Given the description of an element on the screen output the (x, y) to click on. 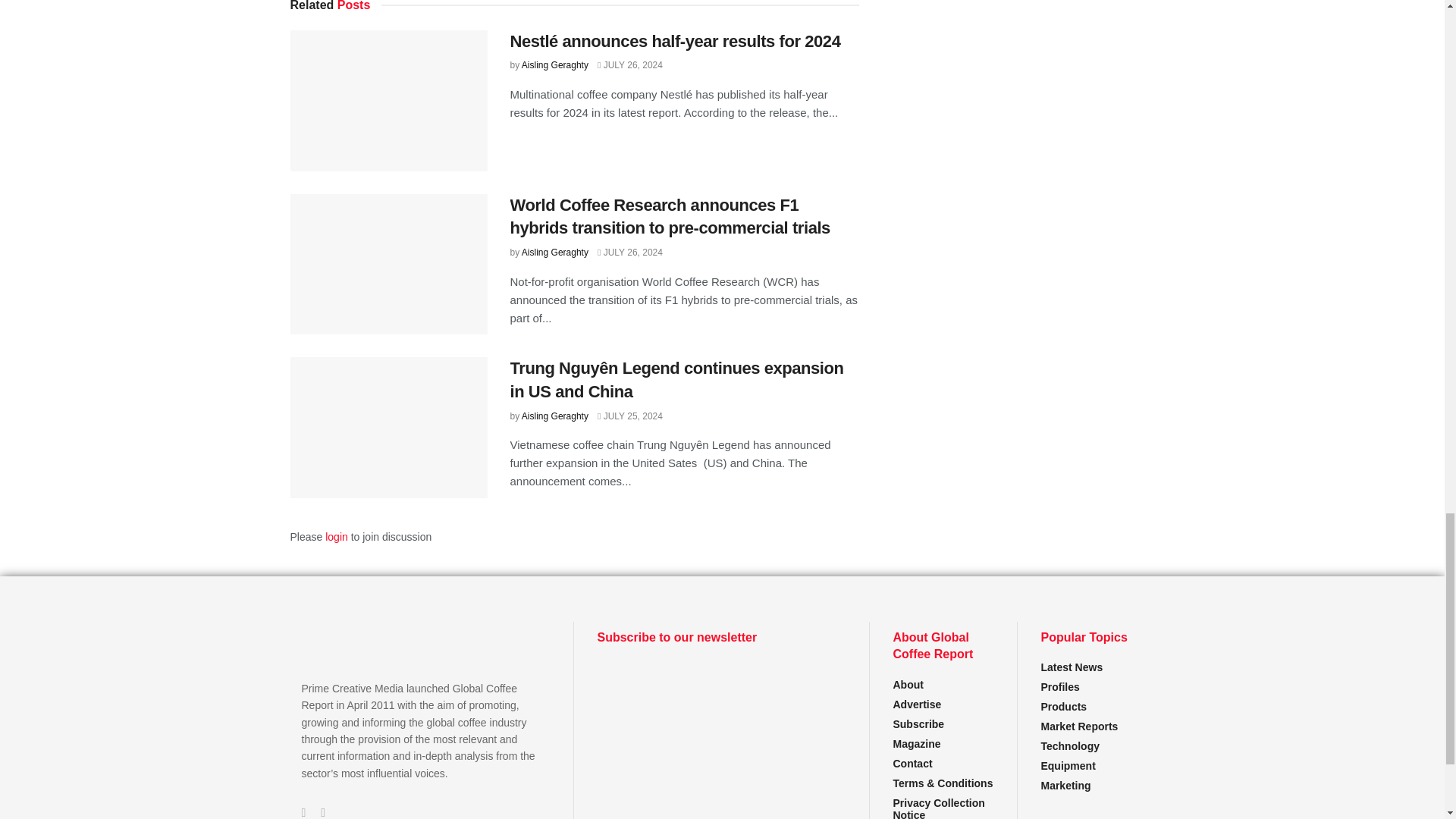
Newsletter signup for Footer (720, 717)
